Given the description of an element on the screen output the (x, y) to click on. 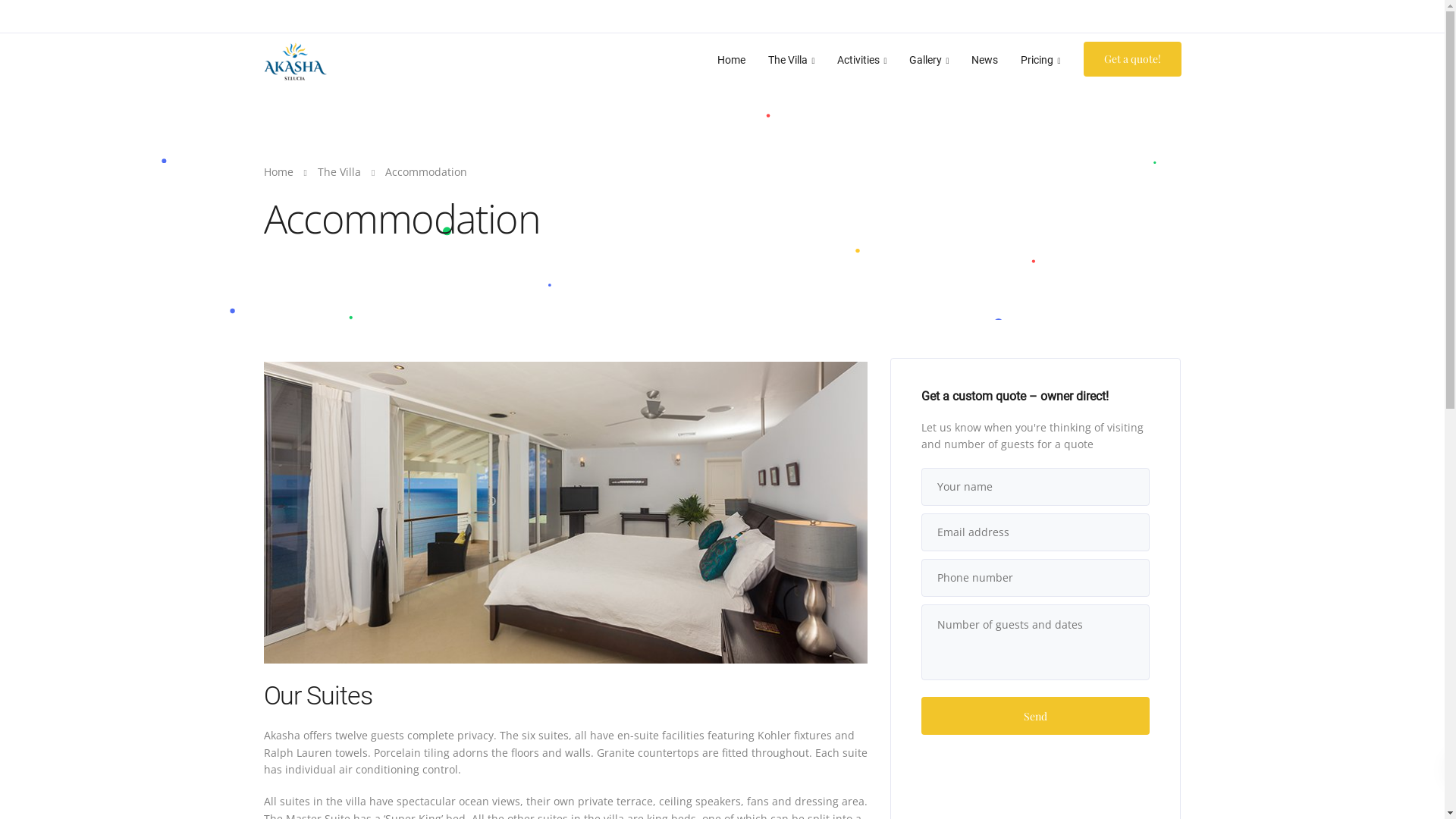
Home Element type: text (278, 171)
The Villa Element type: text (790, 58)
Get a quote! Element type: text (1131, 58)
Send Element type: text (1035, 715)
Home Element type: text (731, 58)
Pricing Element type: text (1040, 58)
News Element type: text (984, 58)
The Villa Element type: text (338, 171)
Activities Element type: text (861, 58)
Gallery Element type: text (928, 58)
